Given the description of an element on the screen output the (x, y) to click on. 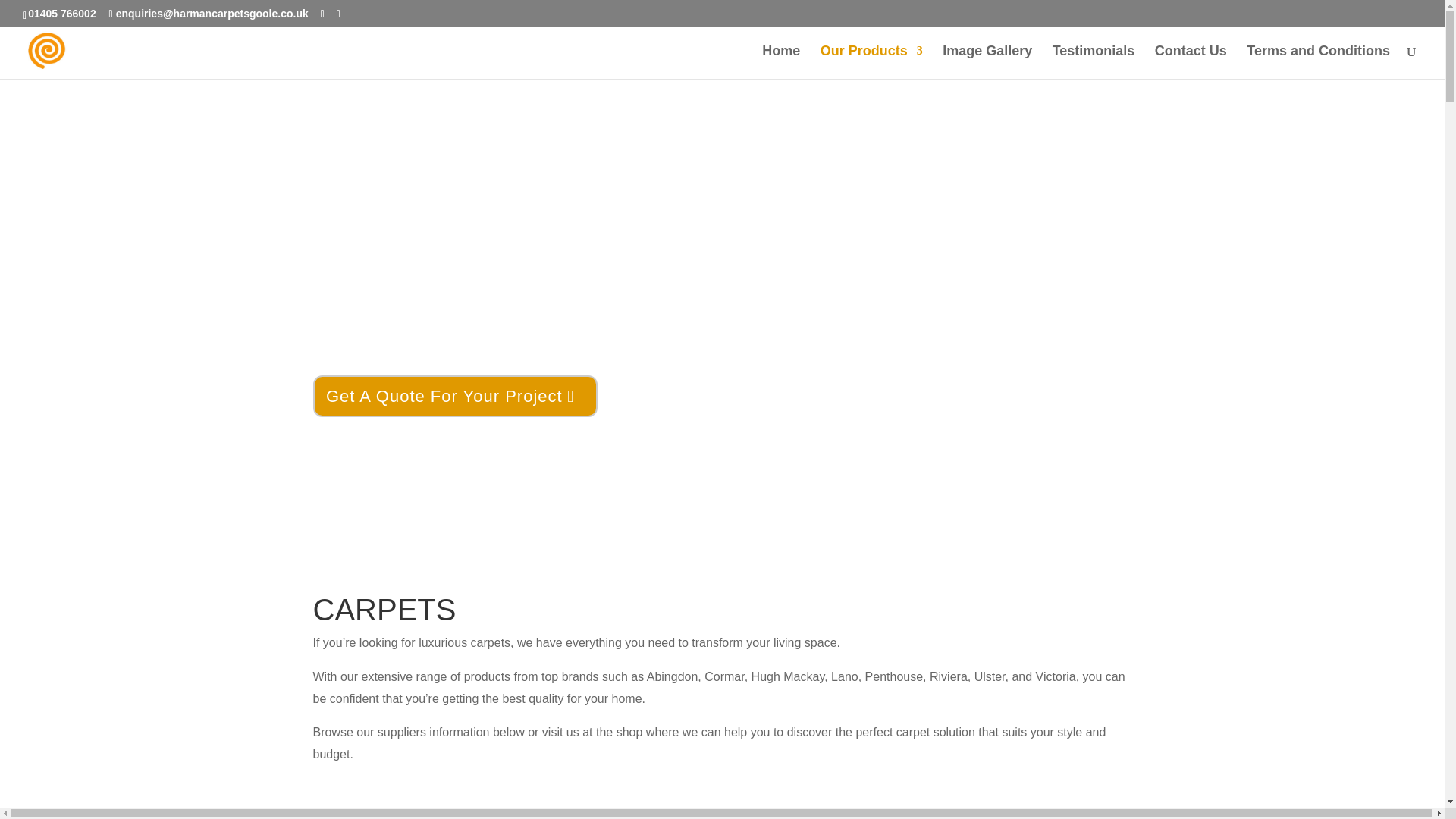
Our Products (872, 61)
Home (780, 61)
Contact Us (1190, 61)
Image Gallery (987, 61)
Testimonials (1093, 61)
Terms and Conditions (1318, 61)
Get A Quote For Your Project (454, 395)
